Given the description of an element on the screen output the (x, y) to click on. 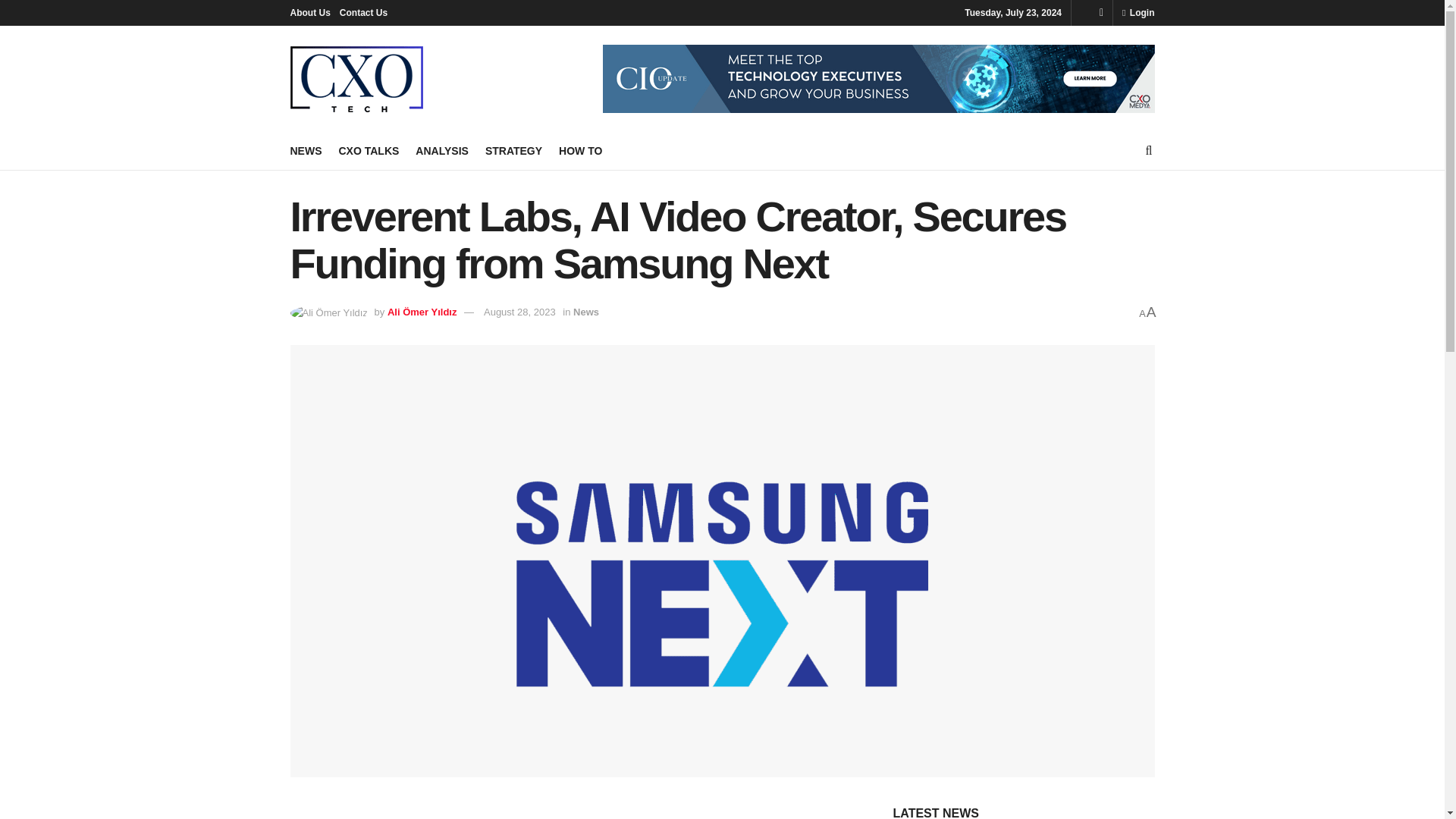
STRATEGY (512, 150)
August 28, 2023 (519, 311)
Contact Us (363, 12)
About Us (309, 12)
Login (1138, 12)
ANALYSIS (441, 150)
News (585, 311)
HOW TO (580, 150)
NEWS (305, 150)
CXO TALKS (367, 150)
